Given the description of an element on the screen output the (x, y) to click on. 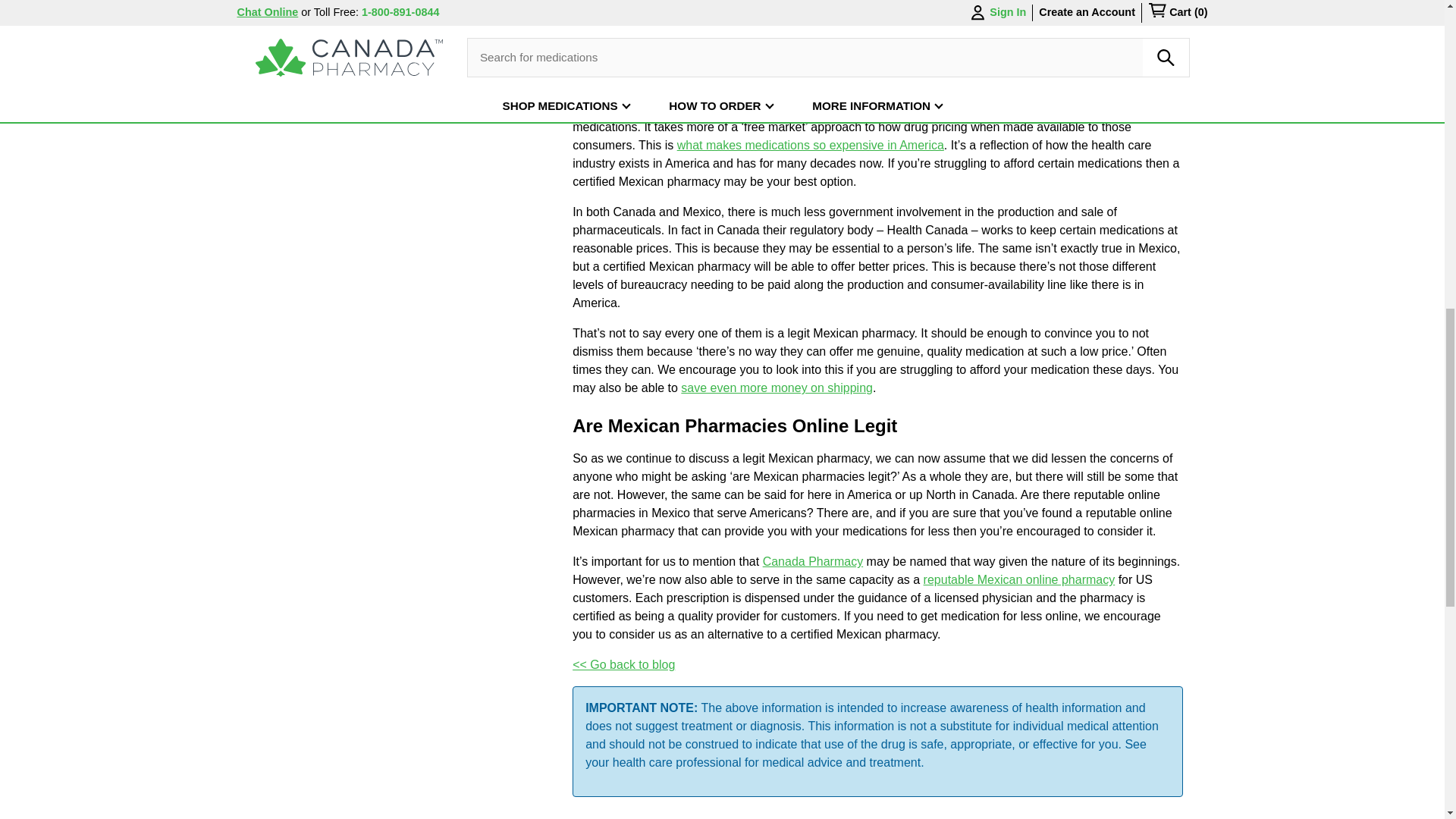
reputable Mexican online pharmacy (1019, 579)
what makes medications so expensive in America (810, 144)
save even more money on shipping (776, 387)
Canada Pharmacy (812, 561)
